Given the description of an element on the screen output the (x, y) to click on. 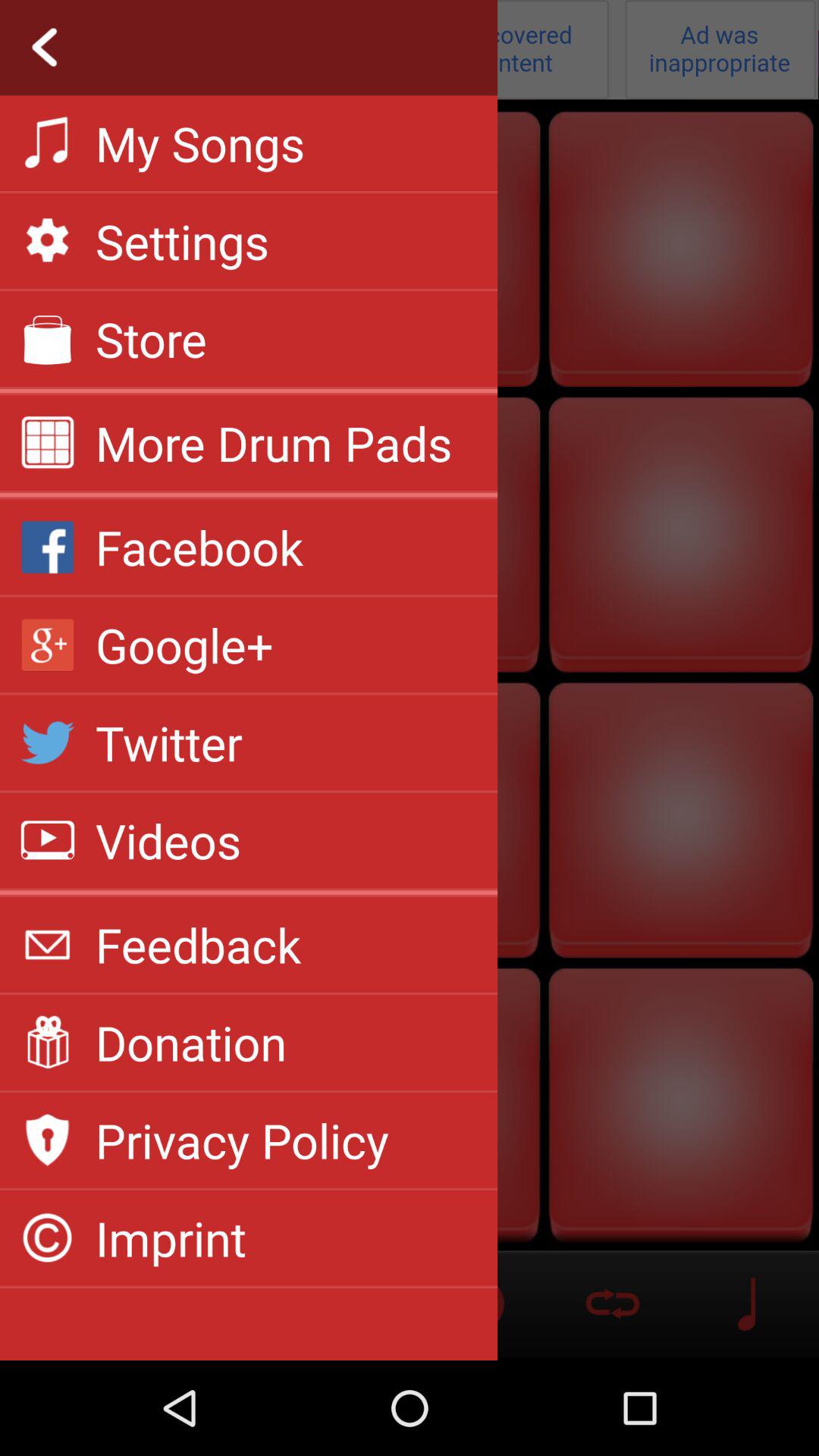
flip until more drum pads (273, 442)
